Given the description of an element on the screen output the (x, y) to click on. 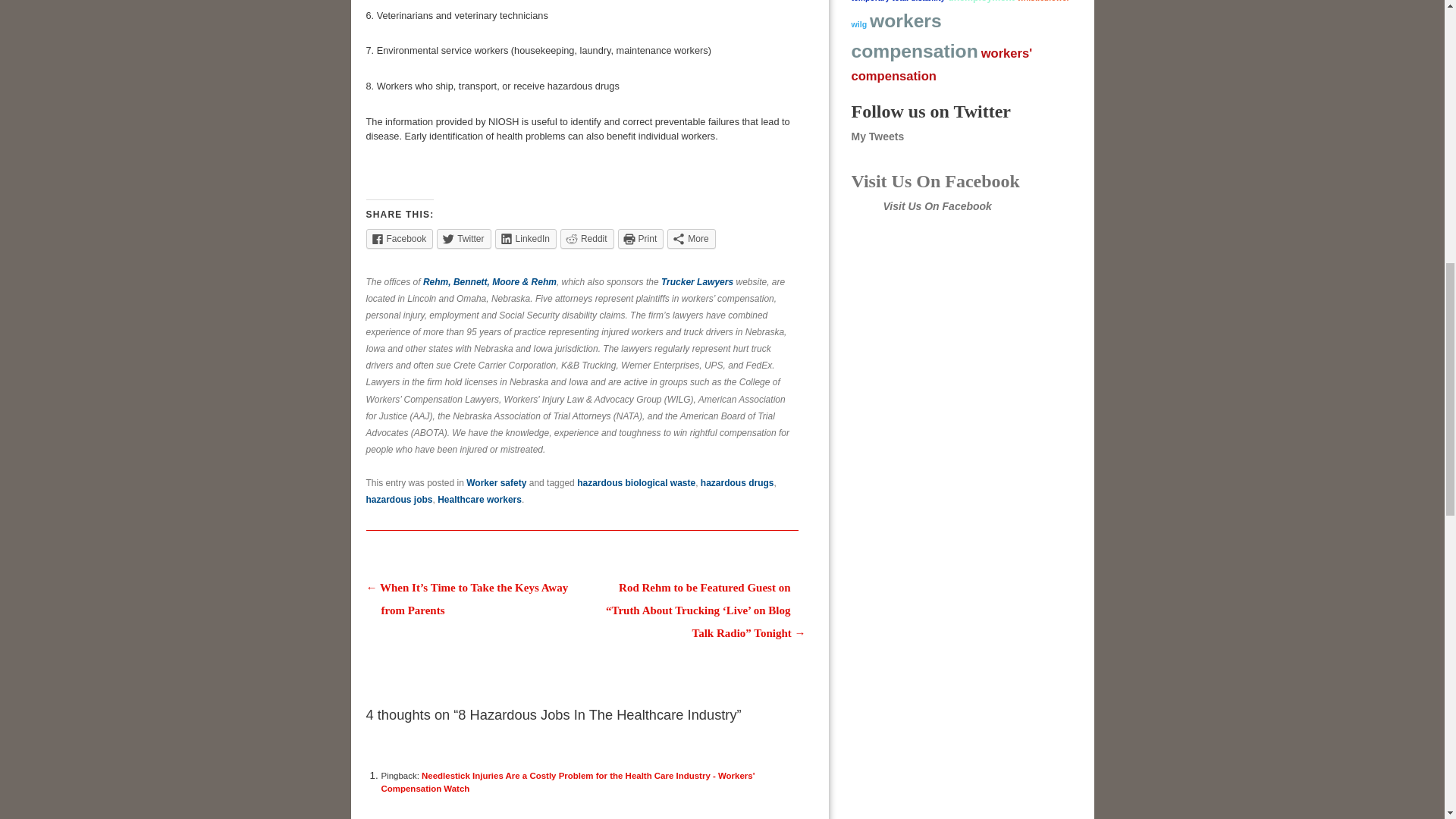
Print (640, 238)
Click to share on Reddit (587, 238)
Click to share on Facebook (398, 238)
Trucker Lawyers (697, 281)
More (690, 238)
hazardous jobs (398, 499)
Twitter (463, 238)
Healthcare workers (479, 499)
Facebook (398, 238)
hazardous biological waste (635, 482)
Click to share on LinkedIn (525, 238)
LinkedIn (525, 238)
Click to print (640, 238)
Click to share on Twitter (463, 238)
hazardous drugs (737, 482)
